Given the description of an element on the screen output the (x, y) to click on. 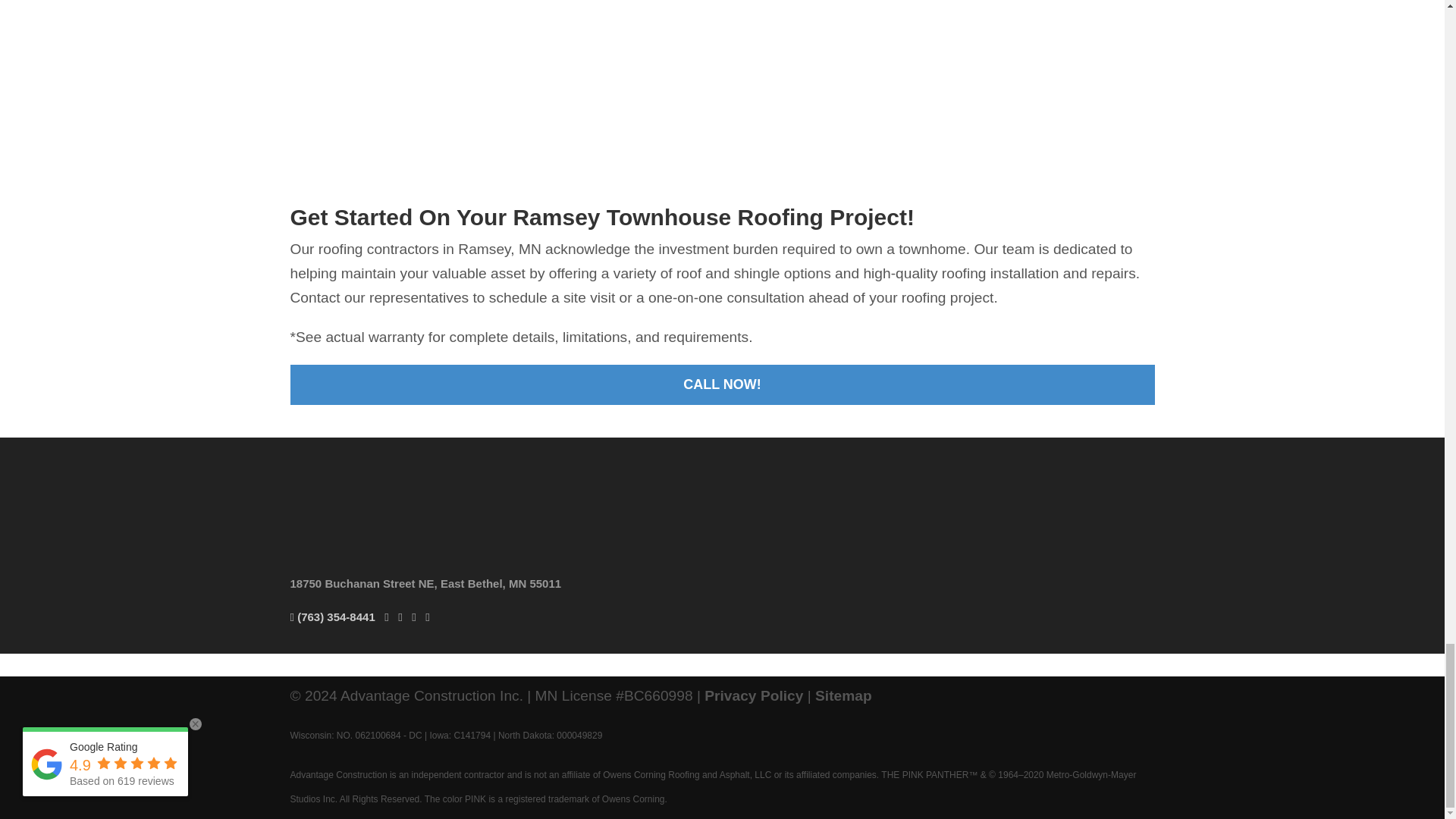
Sitemap (843, 695)
Call Us (331, 616)
CALL NOW! (721, 384)
Privacy Policy (753, 695)
